Given the description of an element on the screen output the (x, y) to click on. 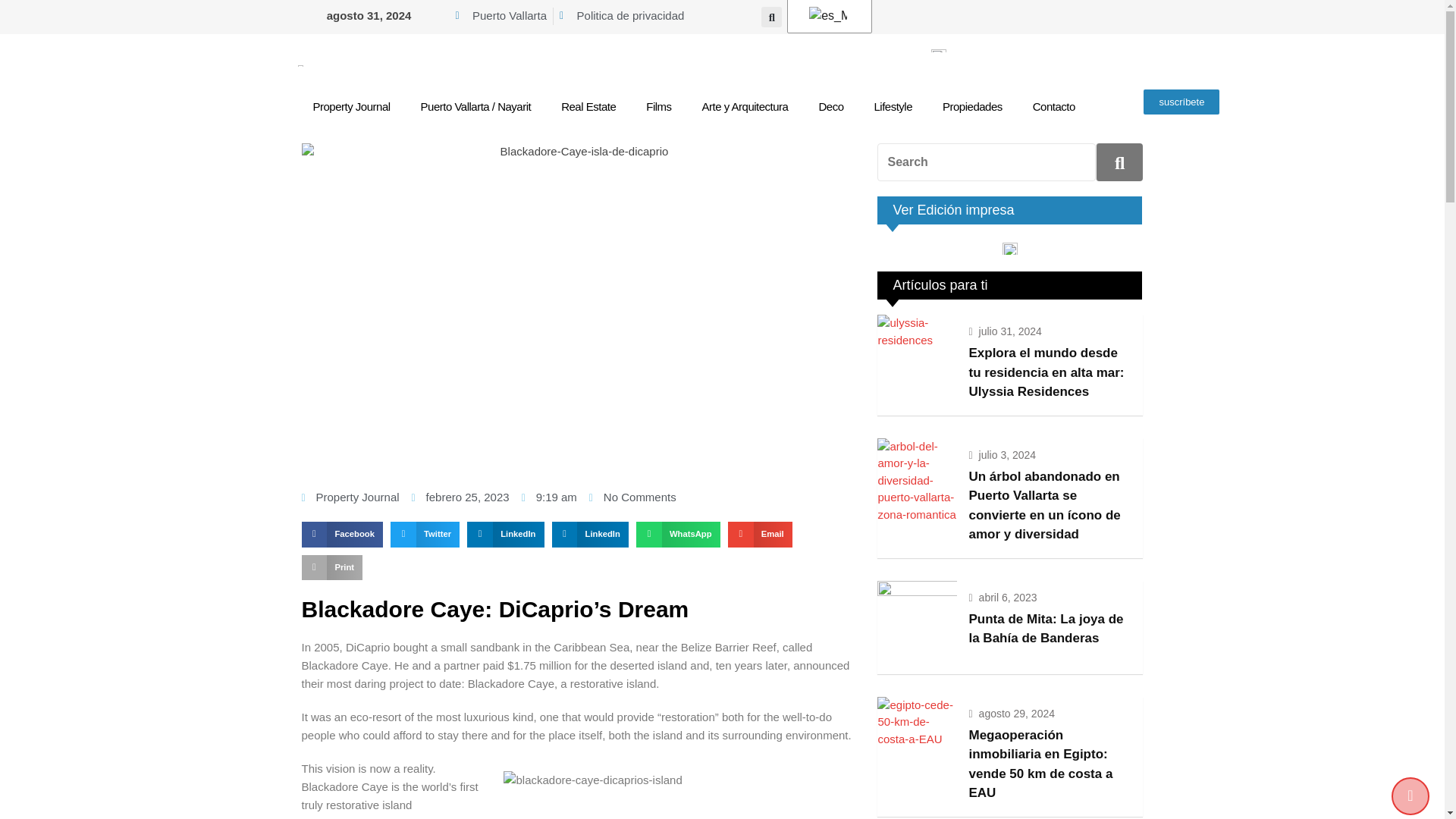
Spanish (826, 15)
Propiedades (972, 106)
Deco (831, 106)
Arte y Arquitectura (745, 106)
Property Journal (350, 106)
Spanish (828, 15)
Real Estate (588, 106)
Politica de privacidad (621, 16)
Contacto (1053, 106)
Lifestyle (893, 106)
